Given the description of an element on the screen output the (x, y) to click on. 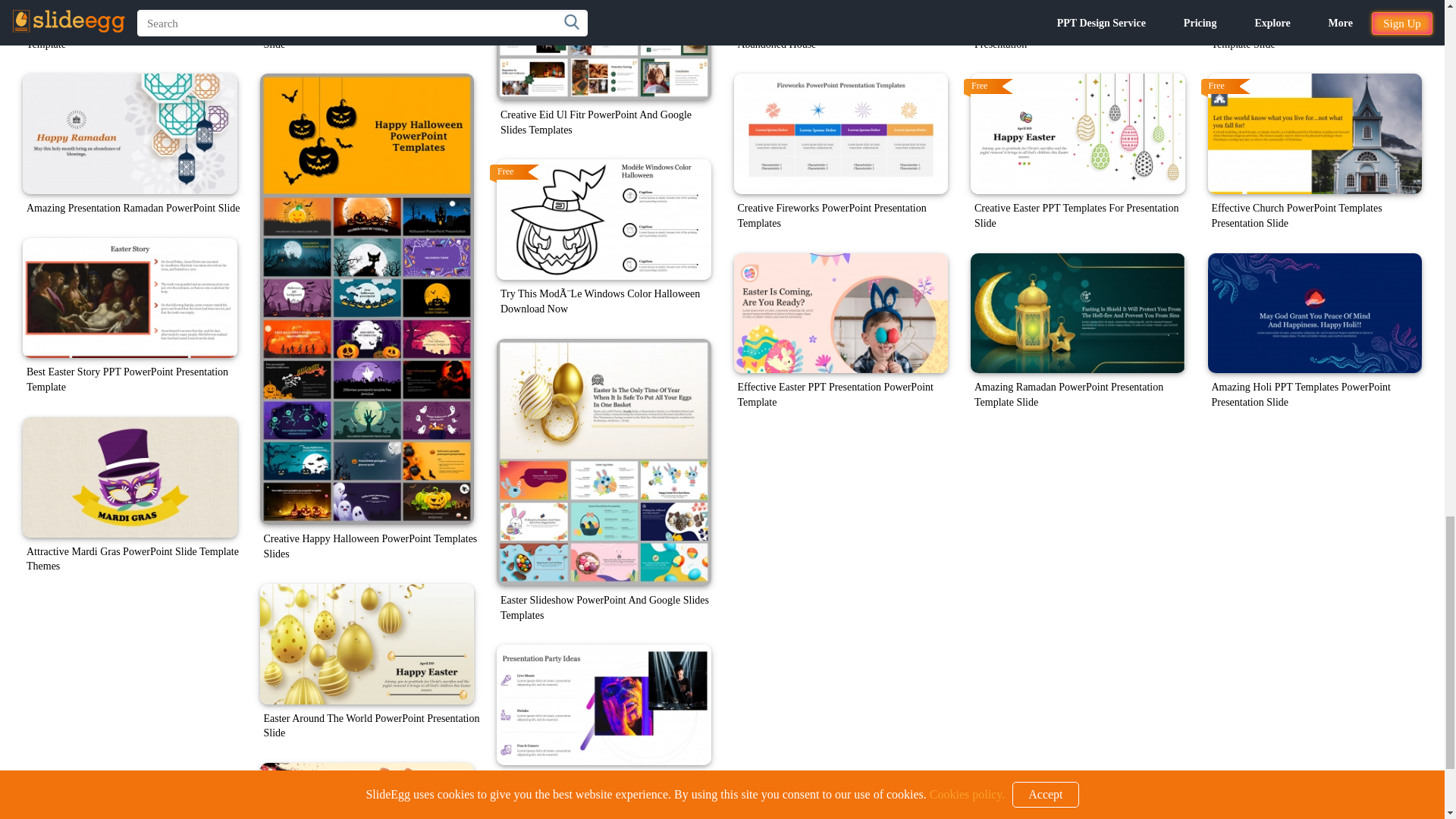
Creative Fireworks PowerPoint Presentation Templates (841, 133)
Halloween Theme PowerPoint Slide With Abandoned House (841, 7)
Best Ascension And Pentecost PowerPoint Presentation (1078, 7)
Easter Around The World PowerPoint Presentation Slide (366, 643)
Creative Easter PPT Templates For Presentation Slide (1078, 133)
Creative Eid Ul Fitr PowerPoint and Google Slides Templates (603, 50)
Best Festival PowerPoint Template and Google Slides Themes (366, 790)
Impressive Obon PowerPoint Presentation Slide Template (130, 7)
Amazing Presentation Ramadan PowerPoint Slide (130, 133)
Creative Holi PowerPoint Template Presentation Slide  (366, 7)
Effective Easter PPT Presentation PowerPoint Template  (841, 313)
Attractive Mardi Gras PowerPoint Slide Template Themes (130, 476)
Amazing Presentation Party Ideas PowerPoint Template  (603, 704)
Best Easter Story PPT PowerPoint Presentation Template  (130, 298)
